Given the description of an element on the screen output the (x, y) to click on. 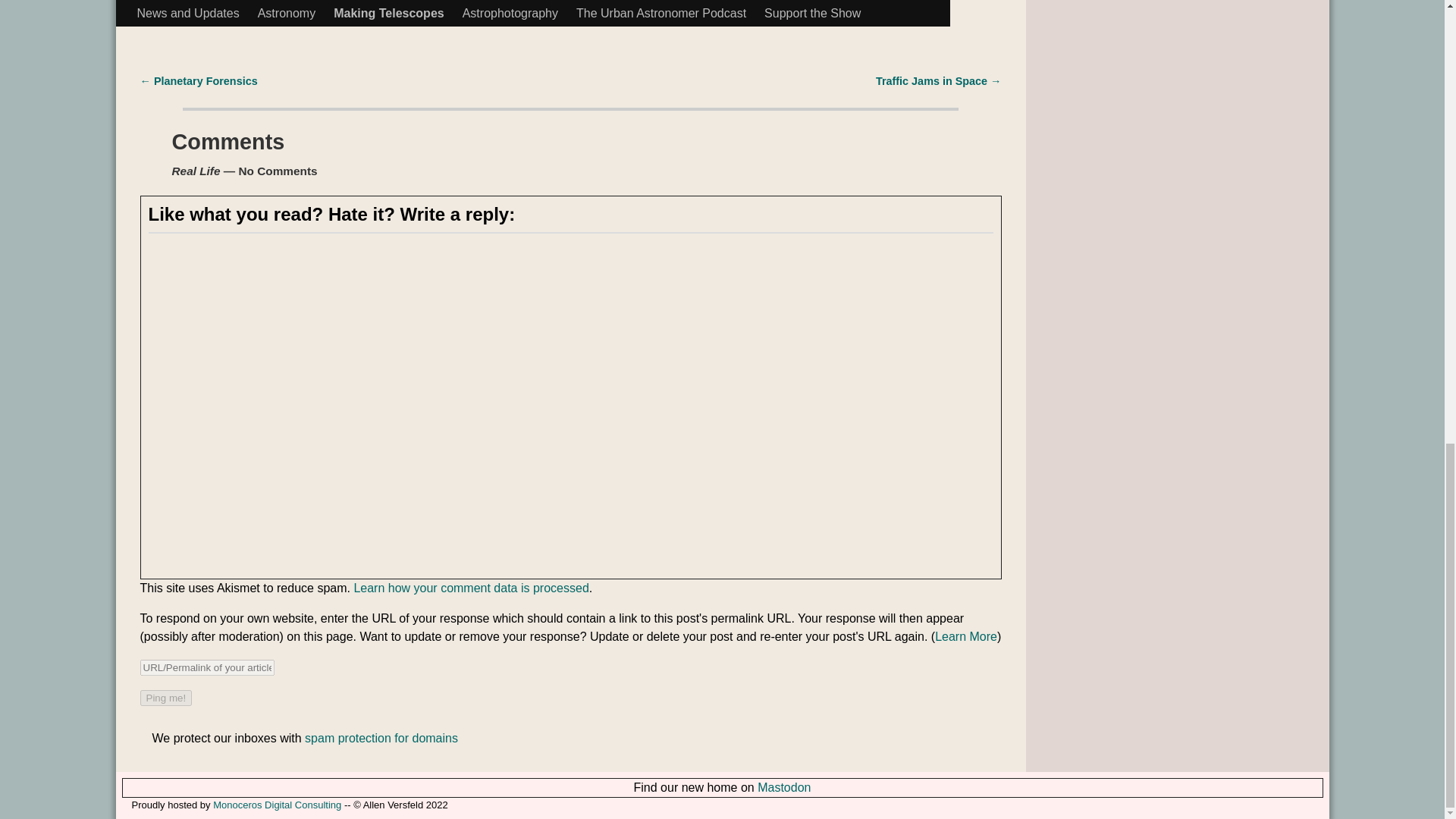
Ping me! (165, 697)
